Given the description of an element on the screen output the (x, y) to click on. 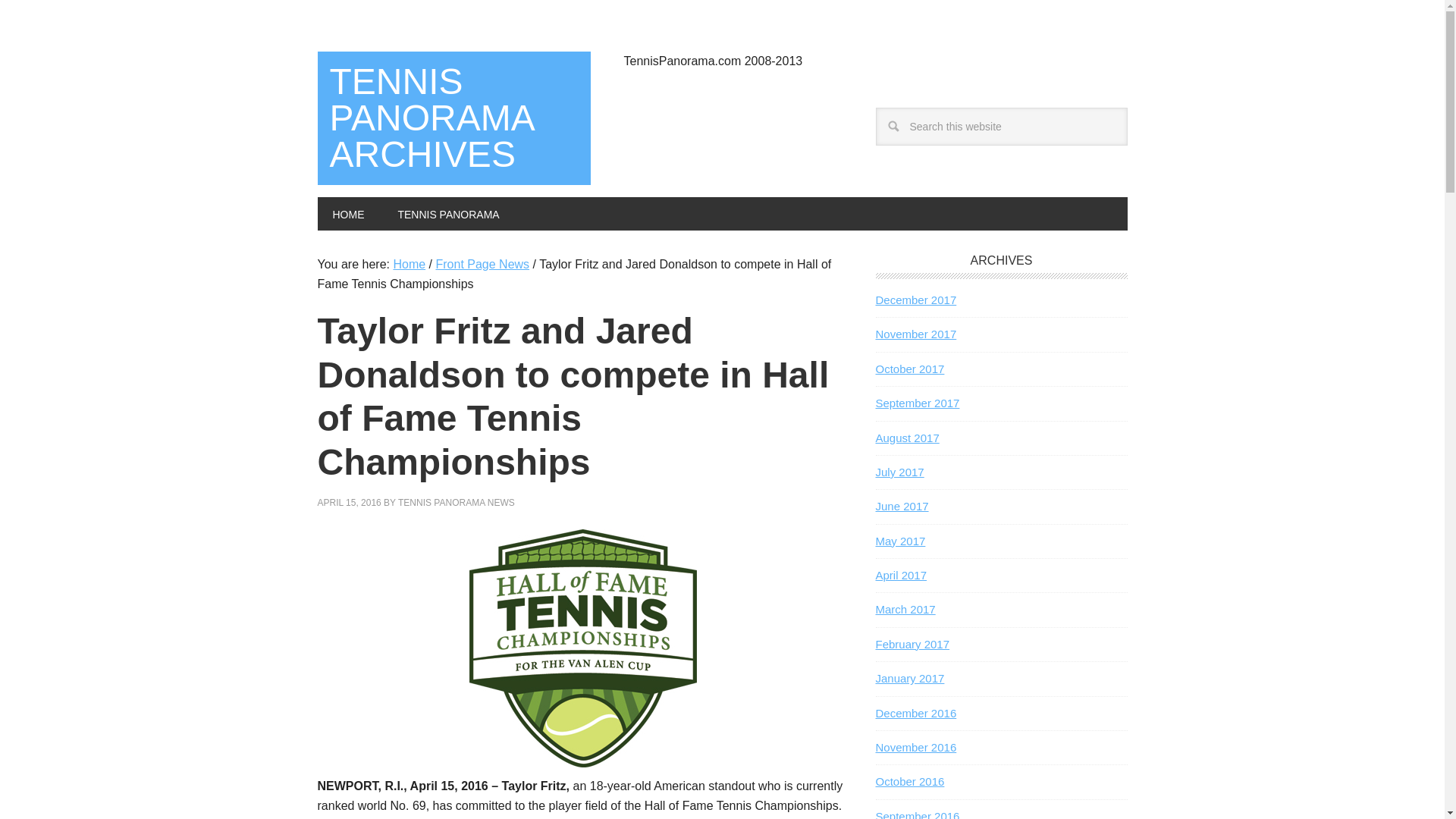
TENNIS PANORAMA NEWS (456, 502)
December 2017 (915, 299)
April 2017 (900, 574)
November 2017 (915, 333)
October 2016 (909, 780)
August 2017 (907, 436)
HOME (347, 213)
October 2017 (909, 368)
Home (409, 264)
June 2017 (901, 505)
July 2017 (899, 472)
May 2017 (899, 540)
January 2017 (909, 677)
September 2017 (917, 402)
